Given the description of an element on the screen output the (x, y) to click on. 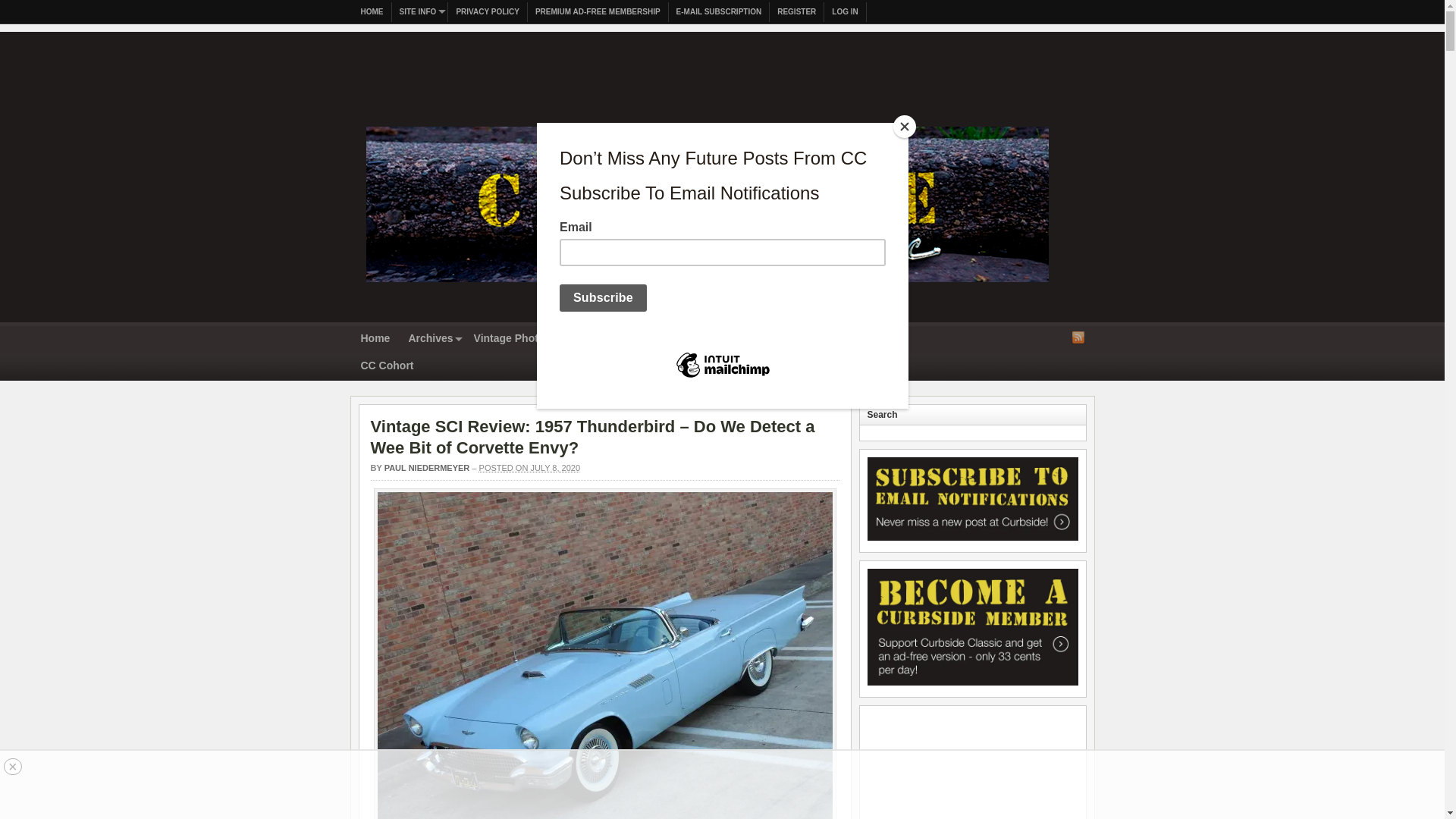
REGISTER (797, 12)
Curbside Classic (706, 286)
Archives (431, 338)
2020-07-08T08:00:13-07:00 (529, 467)
LOG IN (845, 12)
SITE INFO (419, 12)
HOME (372, 12)
PRIVACY POLICY (487, 12)
E-MAIL SUBSCRIPTION (719, 12)
Curbside Classic RSS Feed (1078, 337)
PREMIUM AD-FREE MEMBERSHIP (597, 12)
Vintage Photos (512, 338)
Home (375, 338)
Paul Niedermeyer (427, 467)
